Given the description of an element on the screen output the (x, y) to click on. 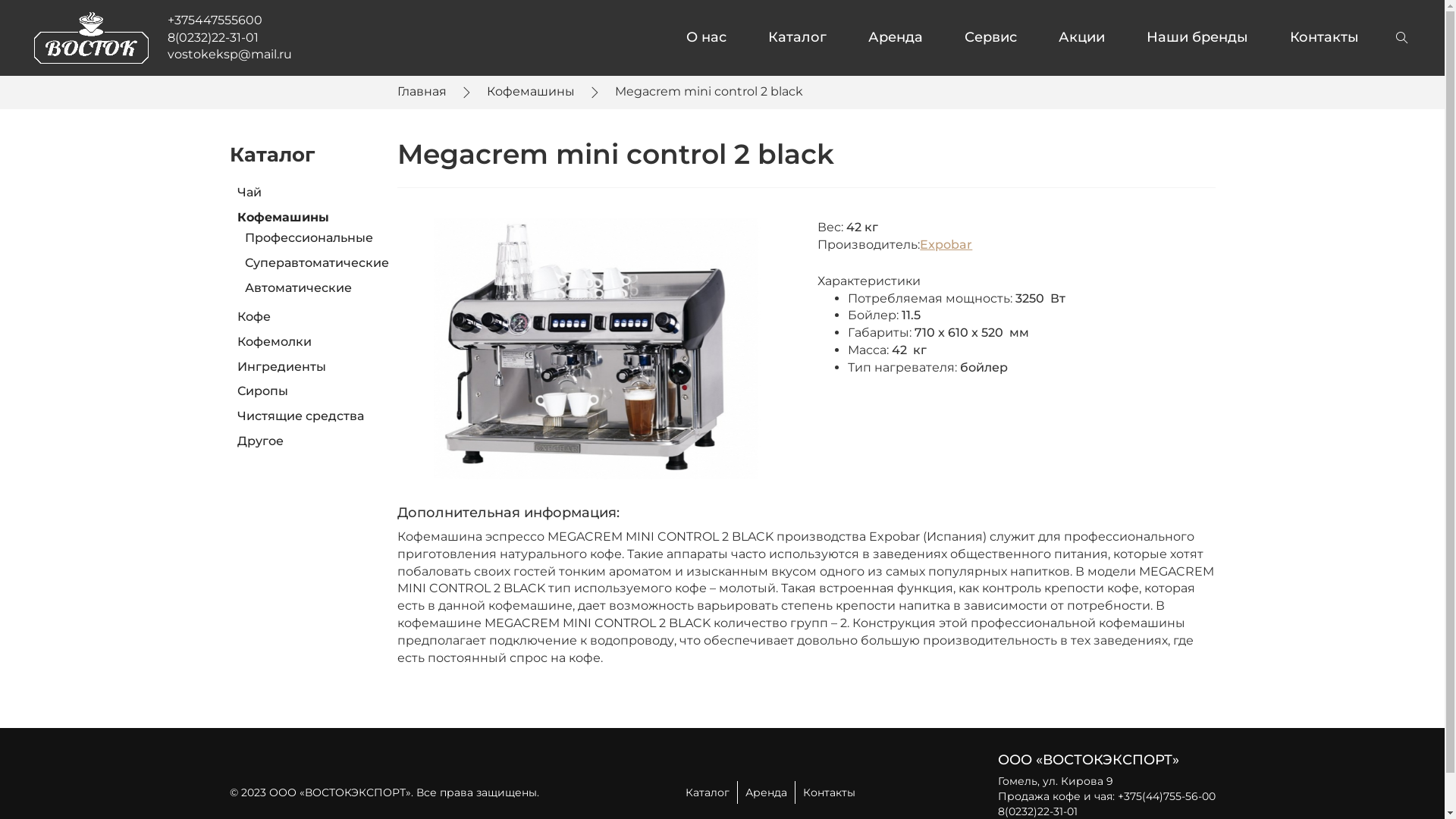
8(0232)22-31-01 Element type: text (212, 37)
vostokeksp@mail.ru Element type: text (229, 54)
Expobar Element type: text (945, 244)
+375447555600 Element type: text (214, 19)
8(0232)22-31-01 Element type: text (1037, 811)
